Given the description of an element on the screen output the (x, y) to click on. 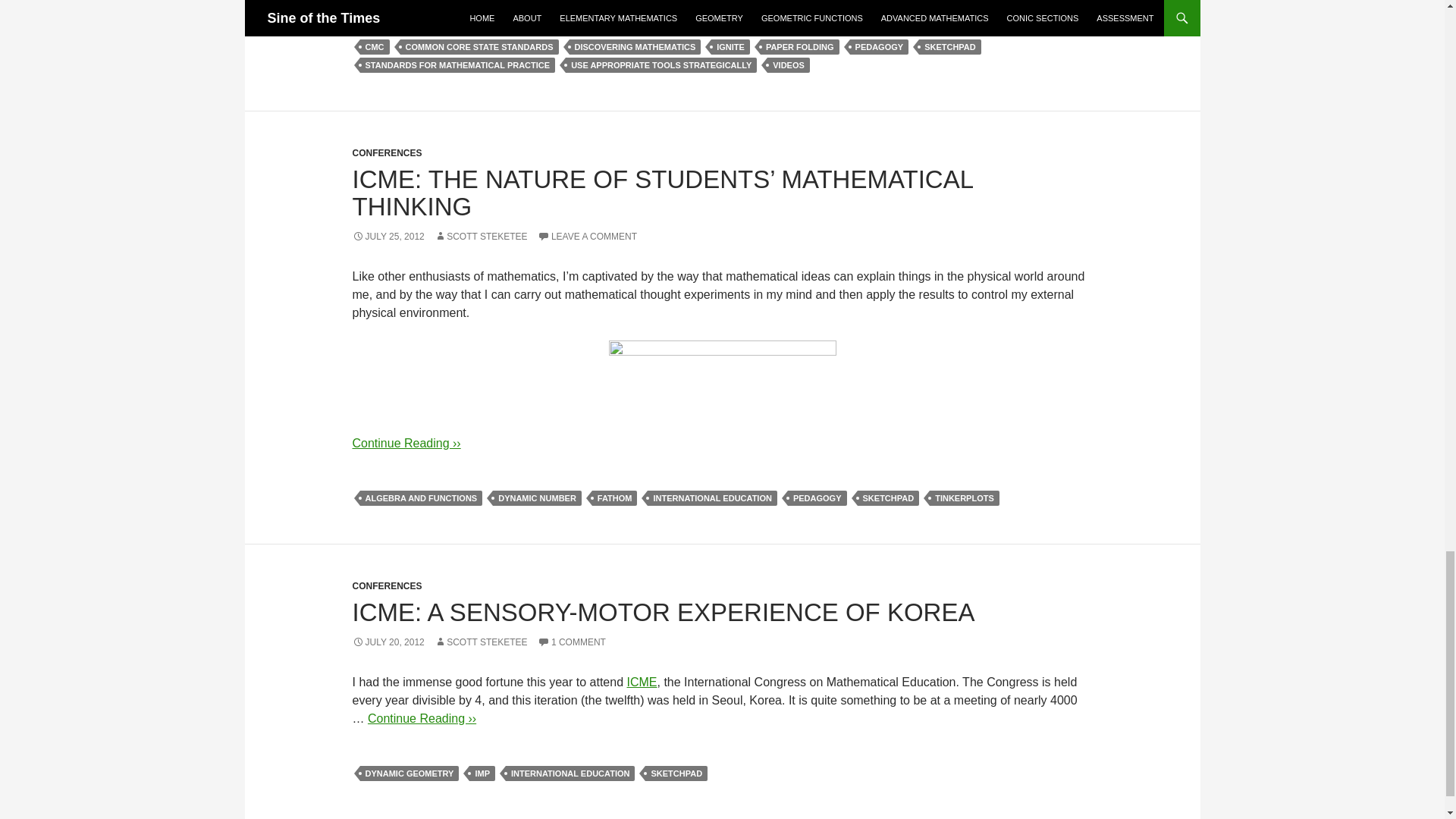
International Congress on Mathematical Education (641, 681)
